Given the description of an element on the screen output the (x, y) to click on. 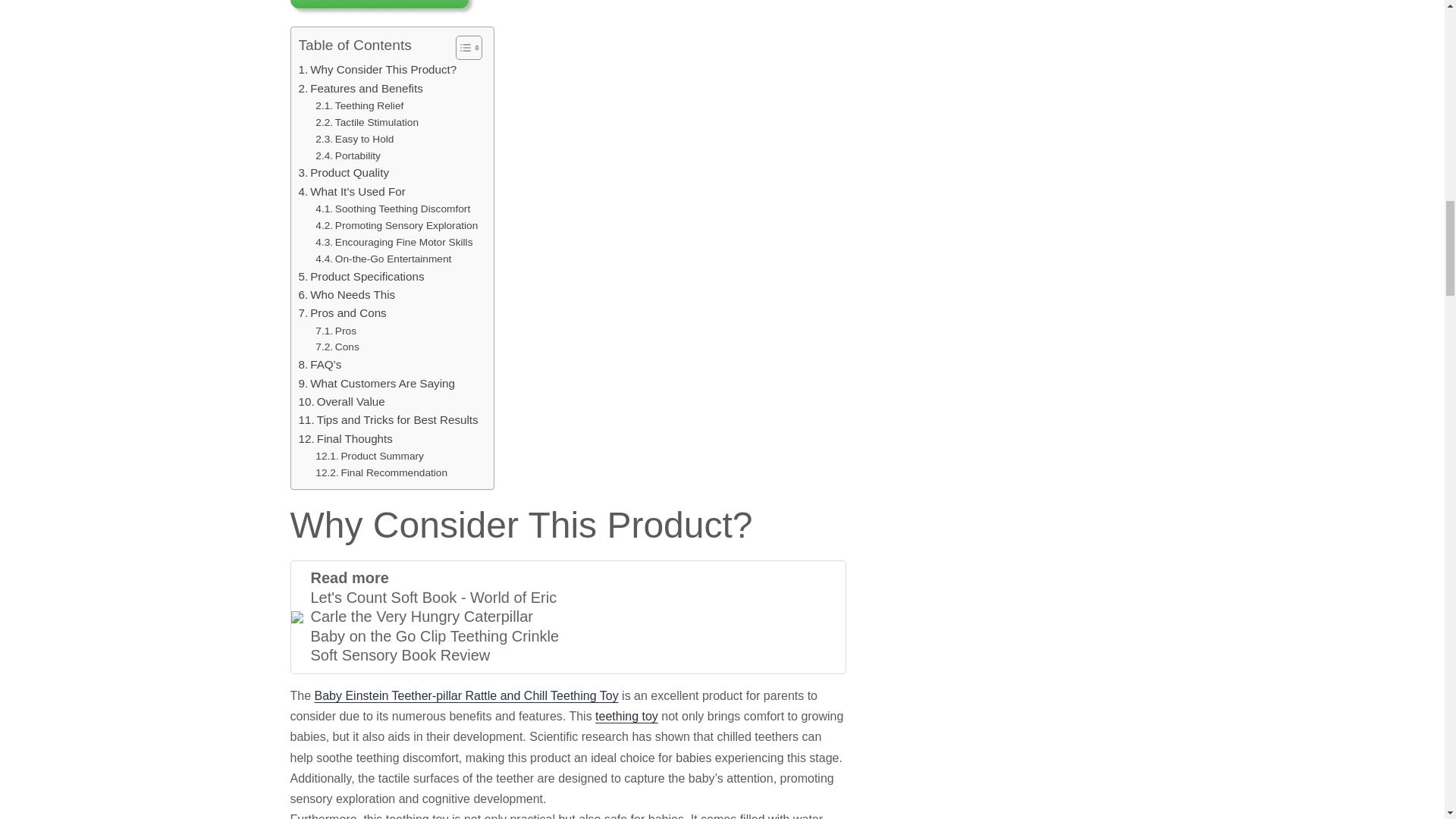
Cons (336, 347)
Who Needs This (347, 294)
Features and Benefits (360, 88)
Product Quality (344, 172)
Tactile Stimulation (367, 122)
Promoting Sensory Exploration (396, 225)
Teething Relief (359, 105)
Encouraging Fine Motor Skills (393, 242)
Why Consider This Product? (377, 69)
Product Specifications (361, 276)
